Given the description of an element on the screen output the (x, y) to click on. 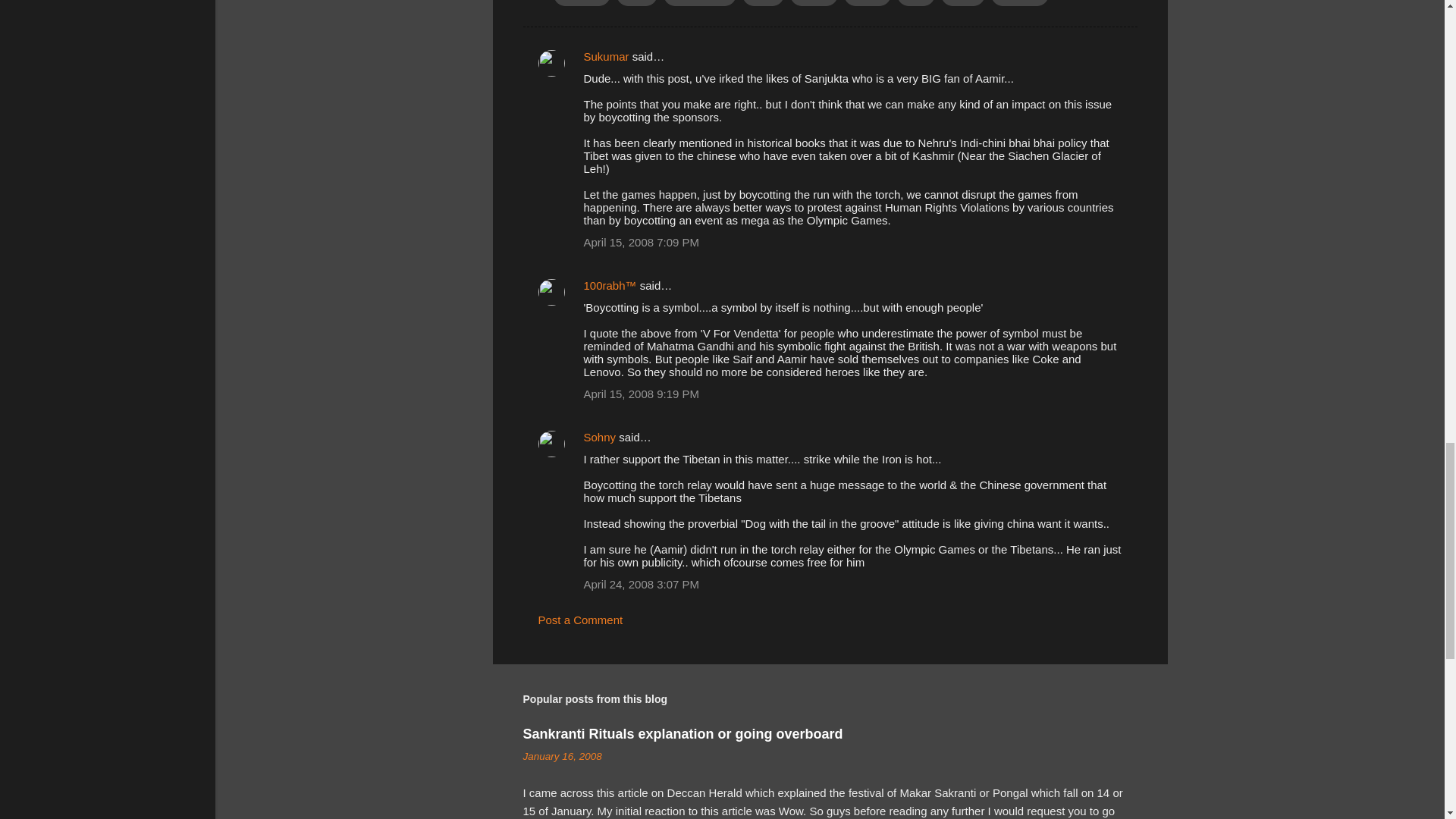
Sukumar (605, 56)
Sankranti Rituals explanation or going overboard (682, 734)
china (636, 2)
events (867, 2)
controversy (699, 2)
crime (763, 2)
April 15, 2008 9:19 PM (641, 393)
culture (814, 2)
January 16, 2008 (562, 756)
Sohny (599, 436)
Post a Comment (580, 619)
thoughts (1019, 2)
india (915, 2)
April 24, 2008 3:07 PM (641, 584)
behavior (582, 2)
